Given the description of an element on the screen output the (x, y) to click on. 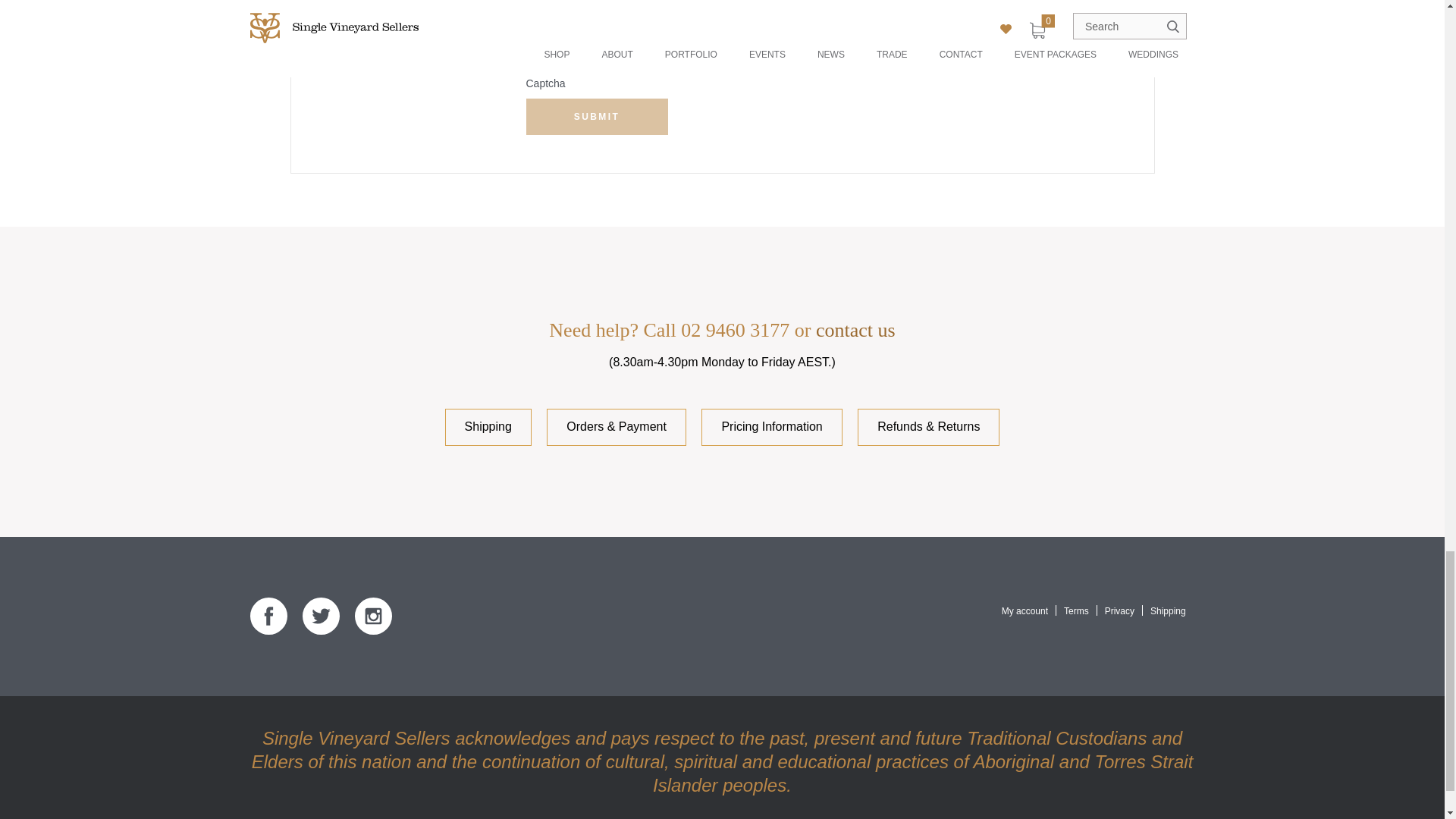
contact us (855, 330)
Pricing Information (771, 426)
Submit (596, 116)
Shipping (488, 426)
Submit (596, 116)
